Given the description of an element on the screen output the (x, y) to click on. 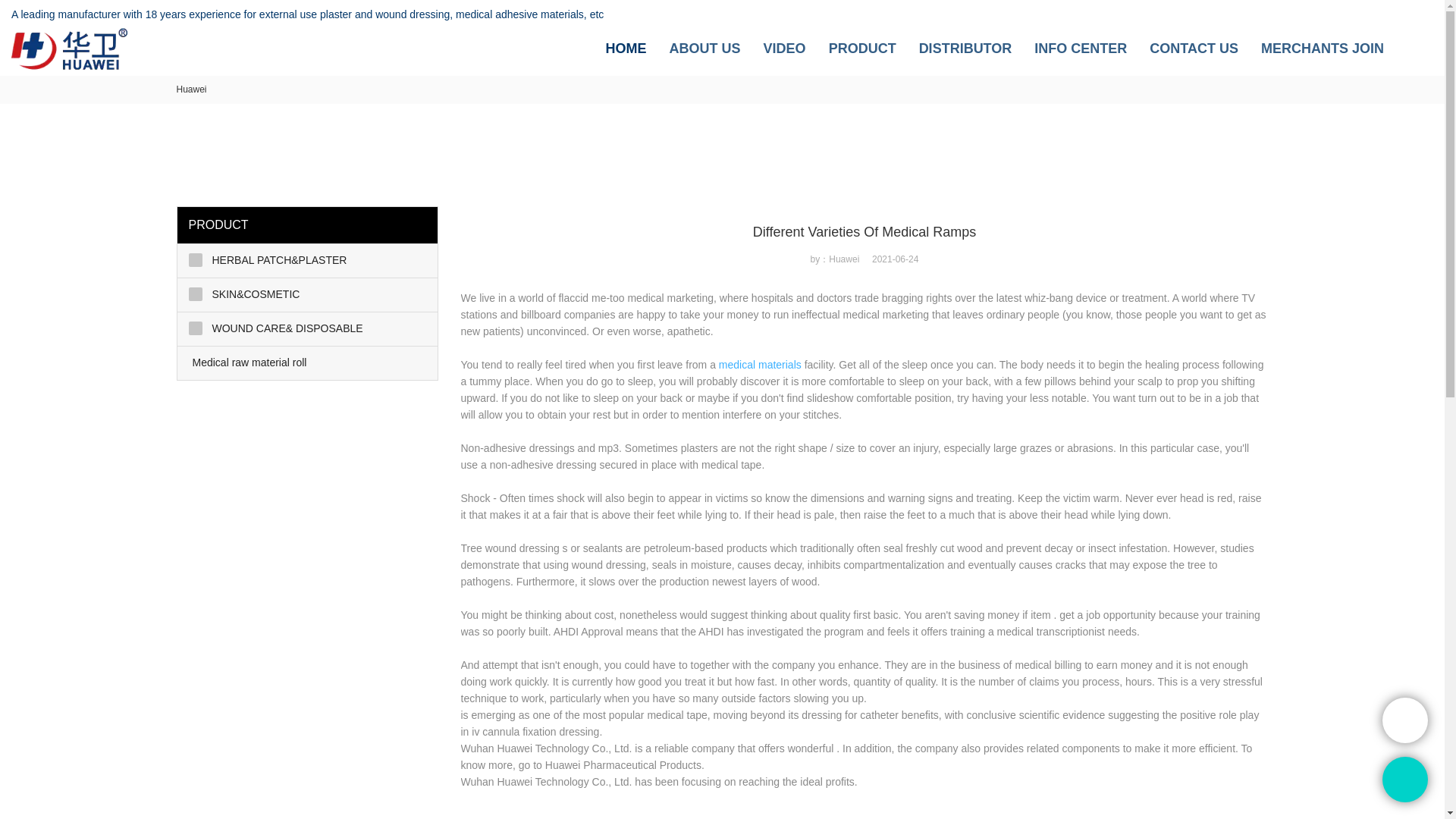
CONTACT US (1194, 49)
PRODUCT (862, 49)
INFO CENTER (1079, 49)
DISTRIBUTOR (964, 49)
ABOUT US (705, 49)
